Given the description of an element on the screen output the (x, y) to click on. 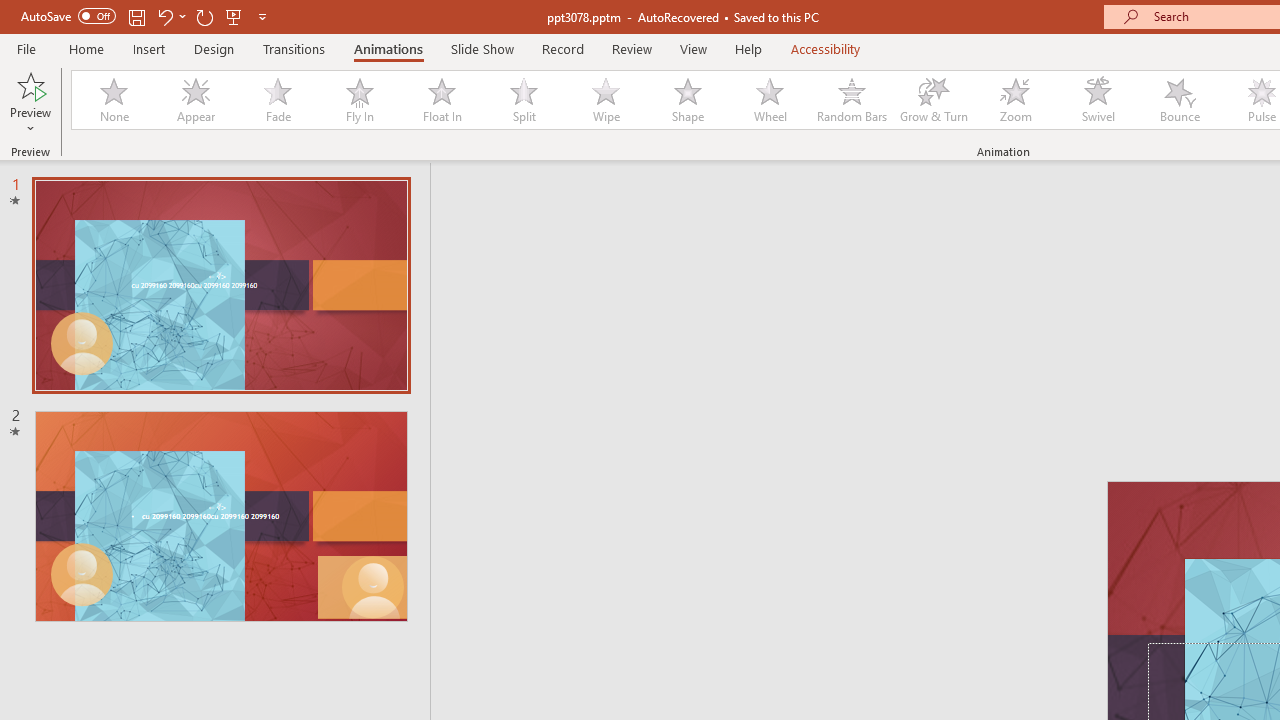
Wheel (770, 100)
